Given the description of an element on the screen output the (x, y) to click on. 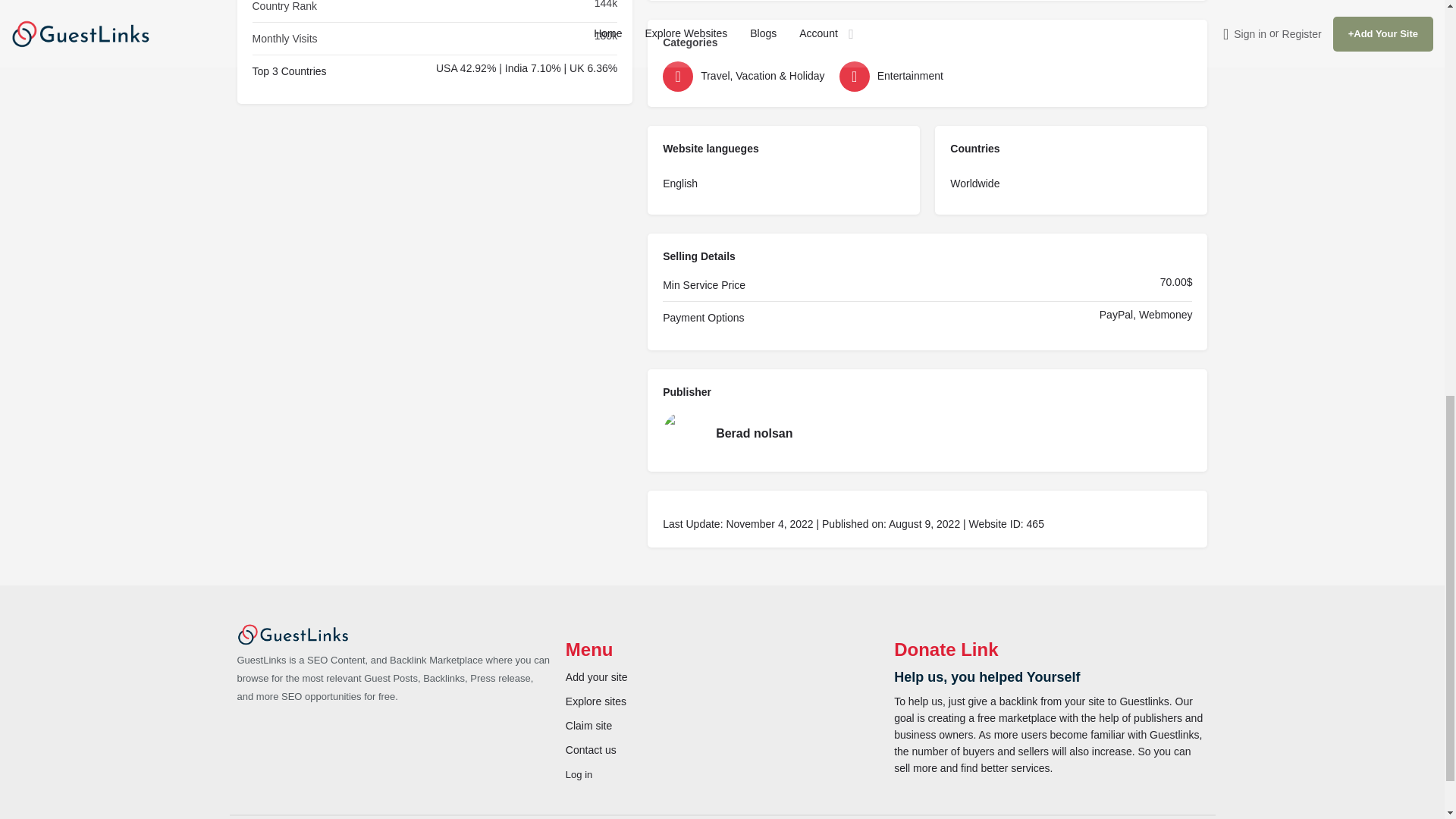
Berad nolsan (927, 433)
Log in (579, 774)
Entertainment (924, 76)
